Given the description of an element on the screen output the (x, y) to click on. 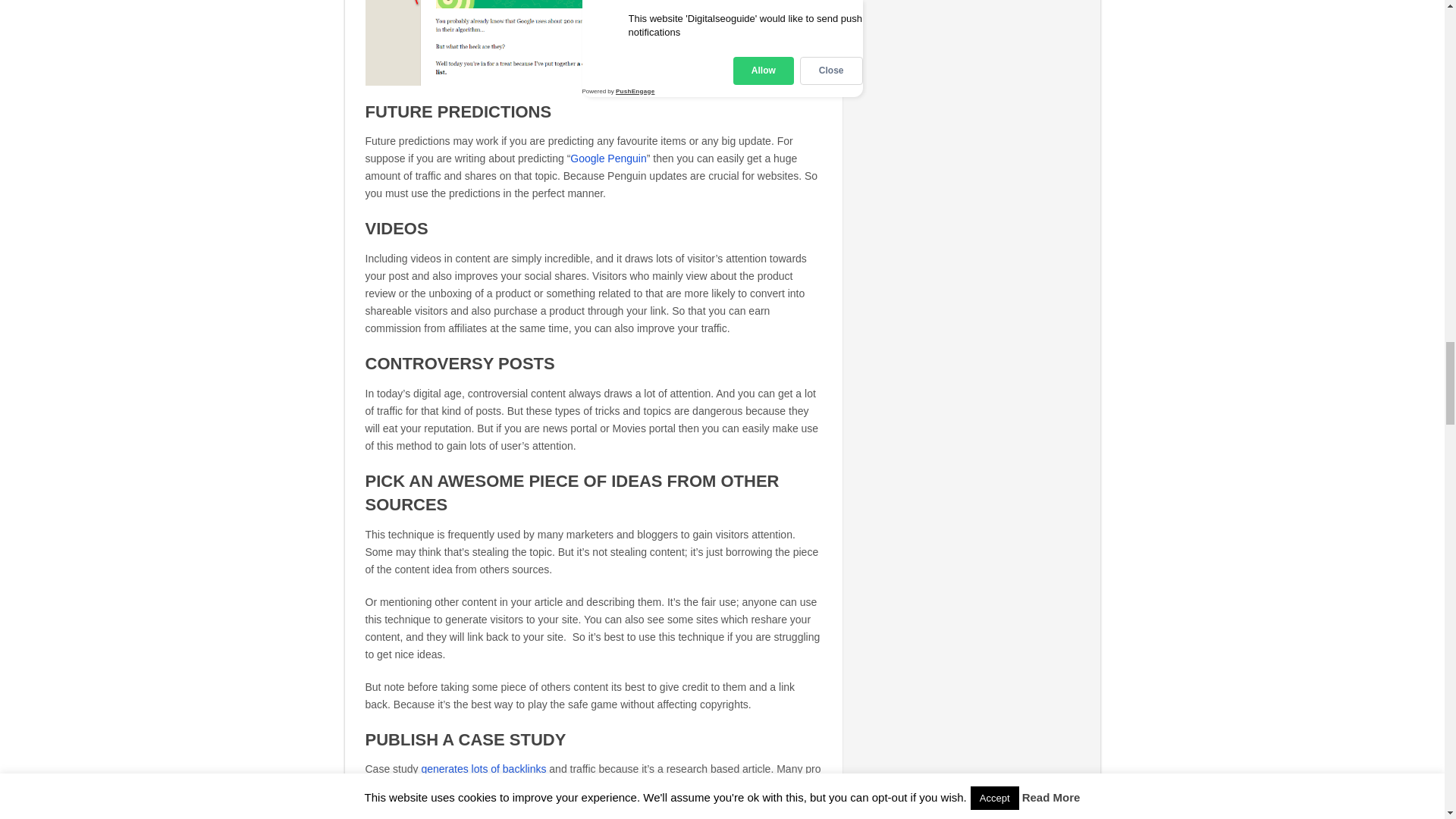
generates lots of backlinks (483, 768)
Google Penguin (608, 158)
